Given the description of an element on the screen output the (x, y) to click on. 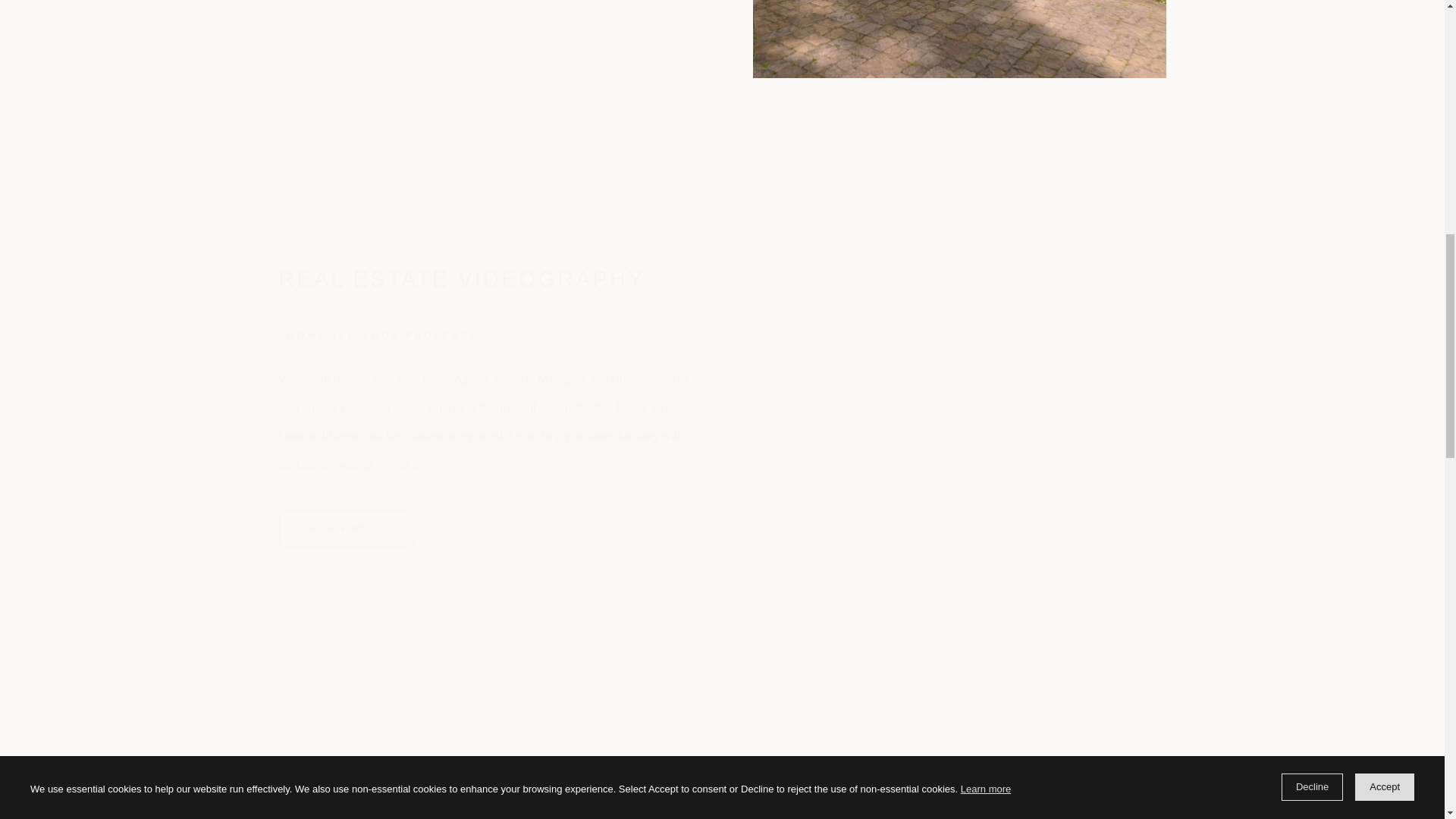
LEARN MORE (346, 528)
